Given the description of an element on the screen output the (x, y) to click on. 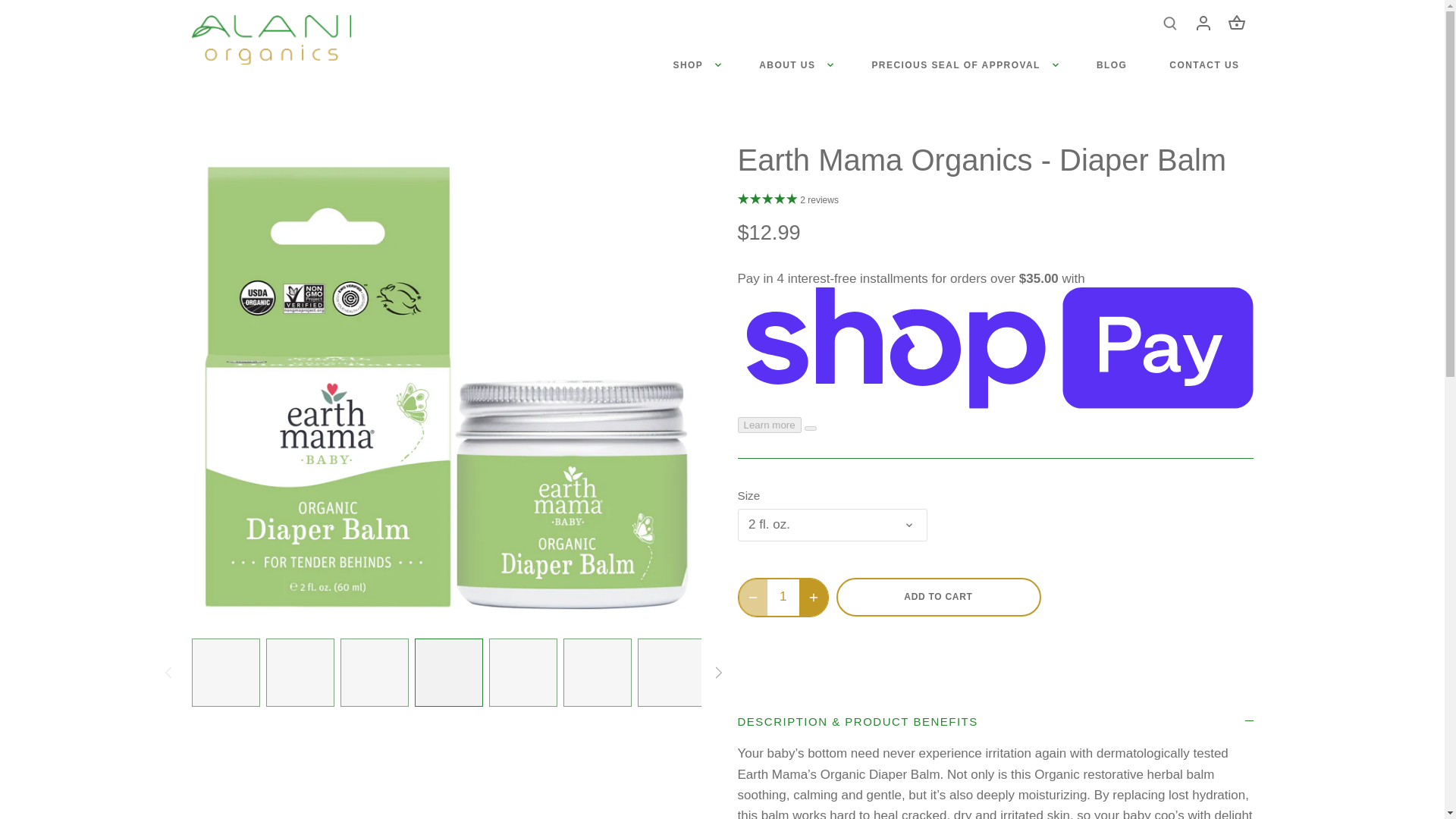
CONTACT US (1204, 63)
BLOG (1111, 63)
ABOUT US (786, 63)
SHOP (694, 63)
PRECIOUS SEAL OF APPROVAL (954, 63)
